Given the description of an element on the screen output the (x, y) to click on. 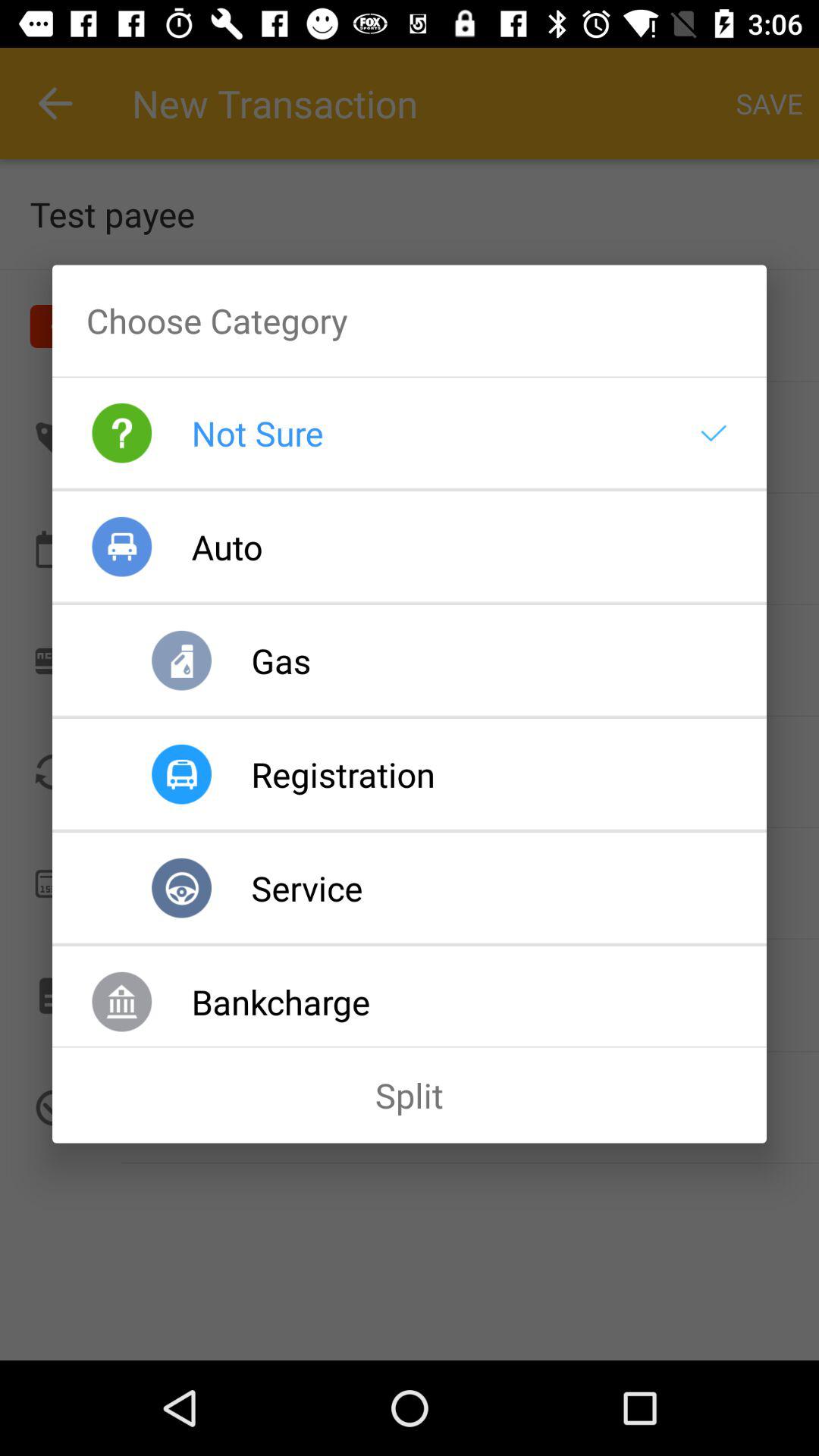
jump until the split (409, 1095)
